Given the description of an element on the screen output the (x, y) to click on. 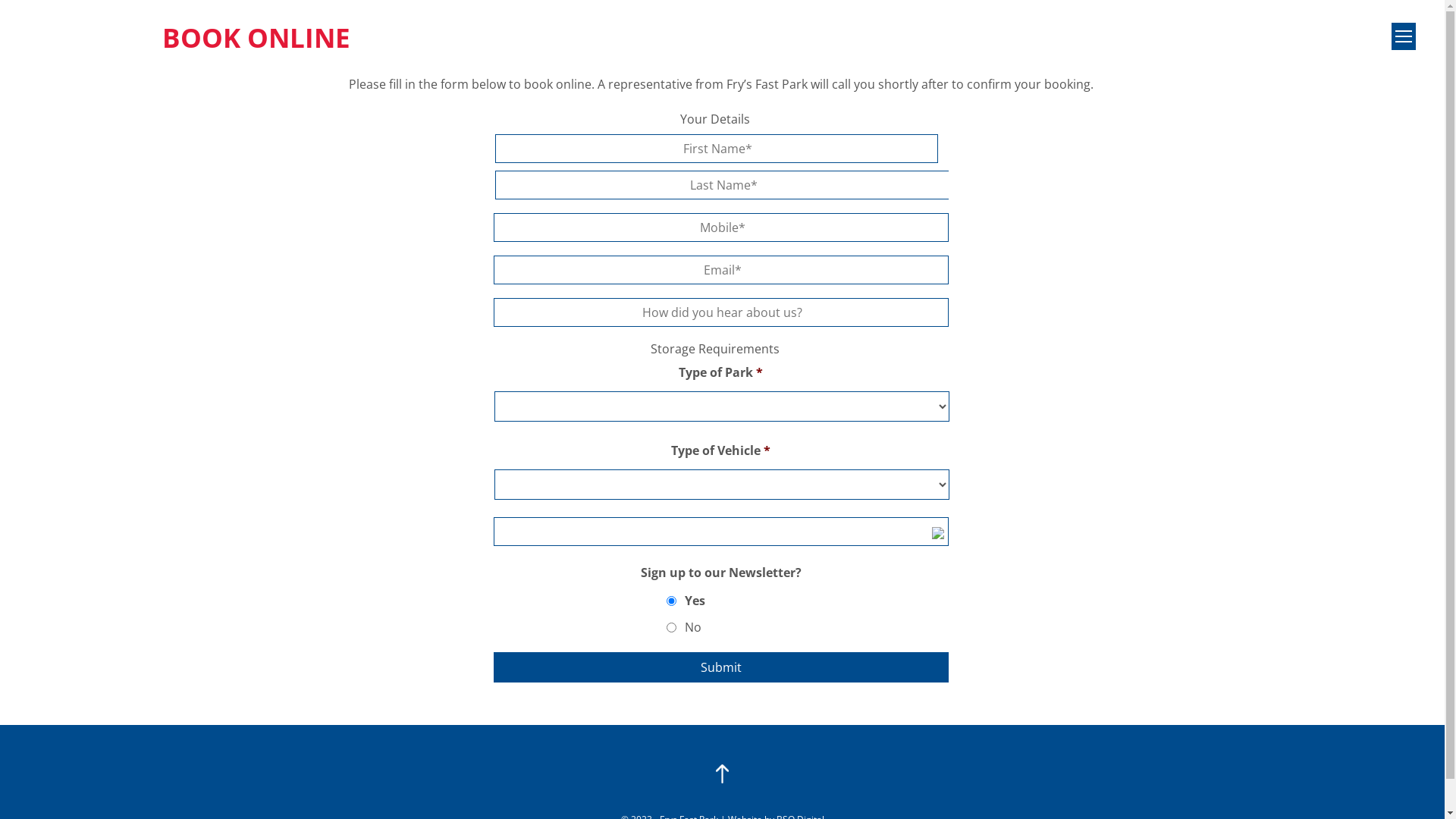
Submit Element type: text (719, 667)
... Element type: hover (937, 533)
